Given the description of an element on the screen output the (x, y) to click on. 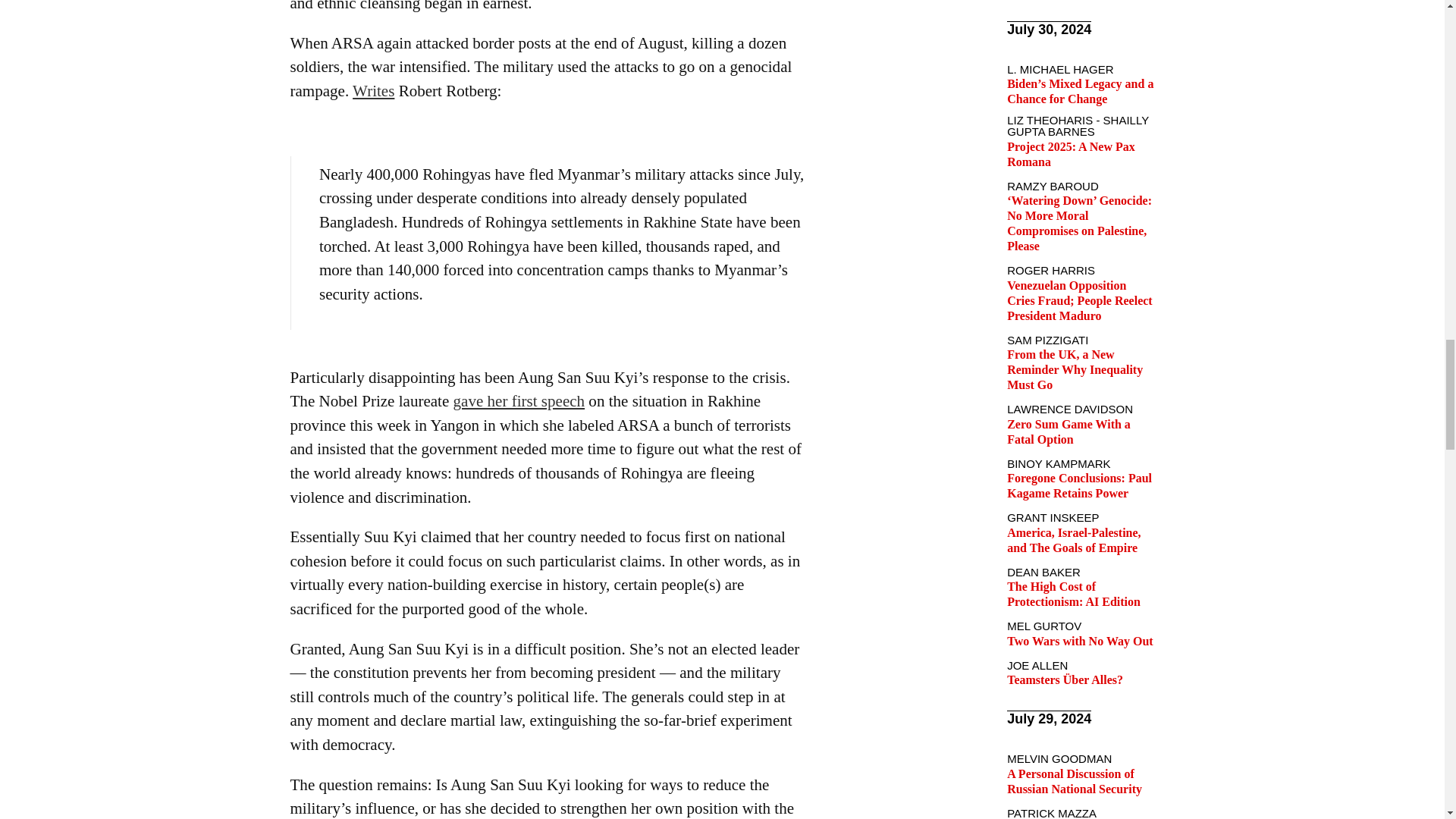
Writes (373, 90)
gave her first speech (518, 401)
